Given the description of an element on the screen output the (x, y) to click on. 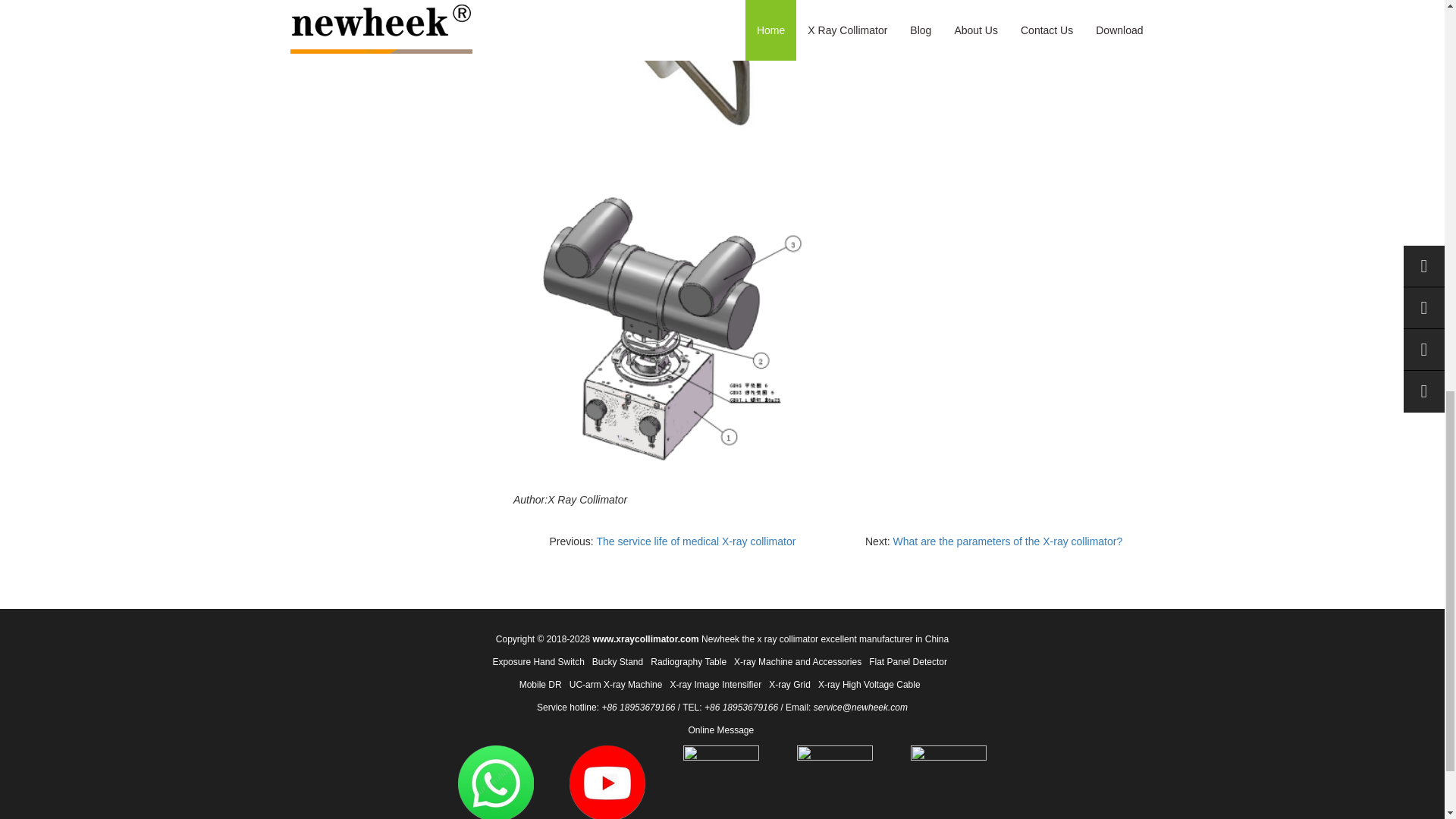
The service life of medical X-ray collimator (694, 541)
What are the parameters of the X-ray collimator? (1007, 541)
